Given the description of an element on the screen output the (x, y) to click on. 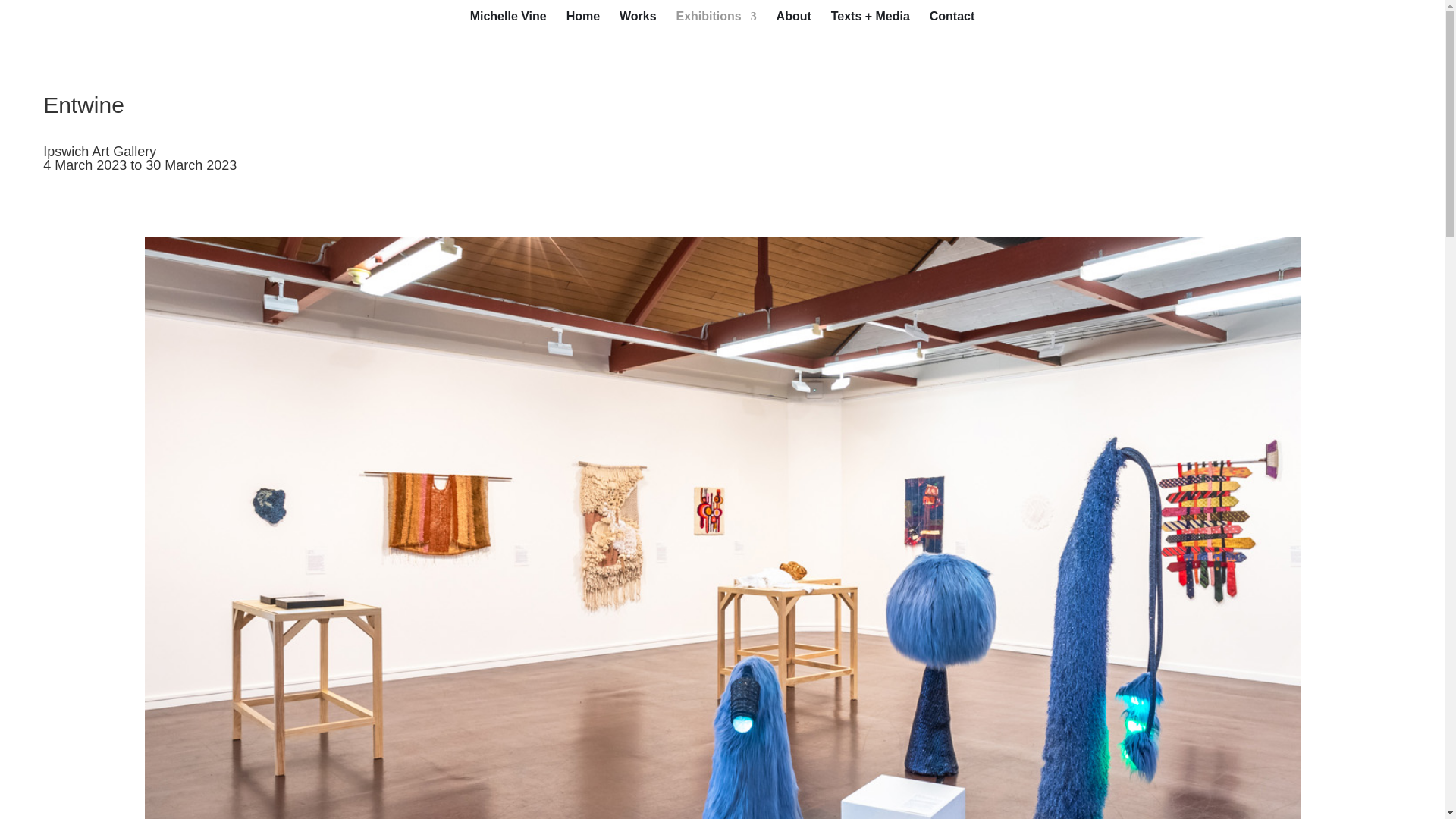
Exhibitions (715, 22)
Works (638, 22)
About (793, 22)
Michelle Vine (508, 22)
Contact (952, 22)
Home (582, 22)
